Given the description of an element on the screen output the (x, y) to click on. 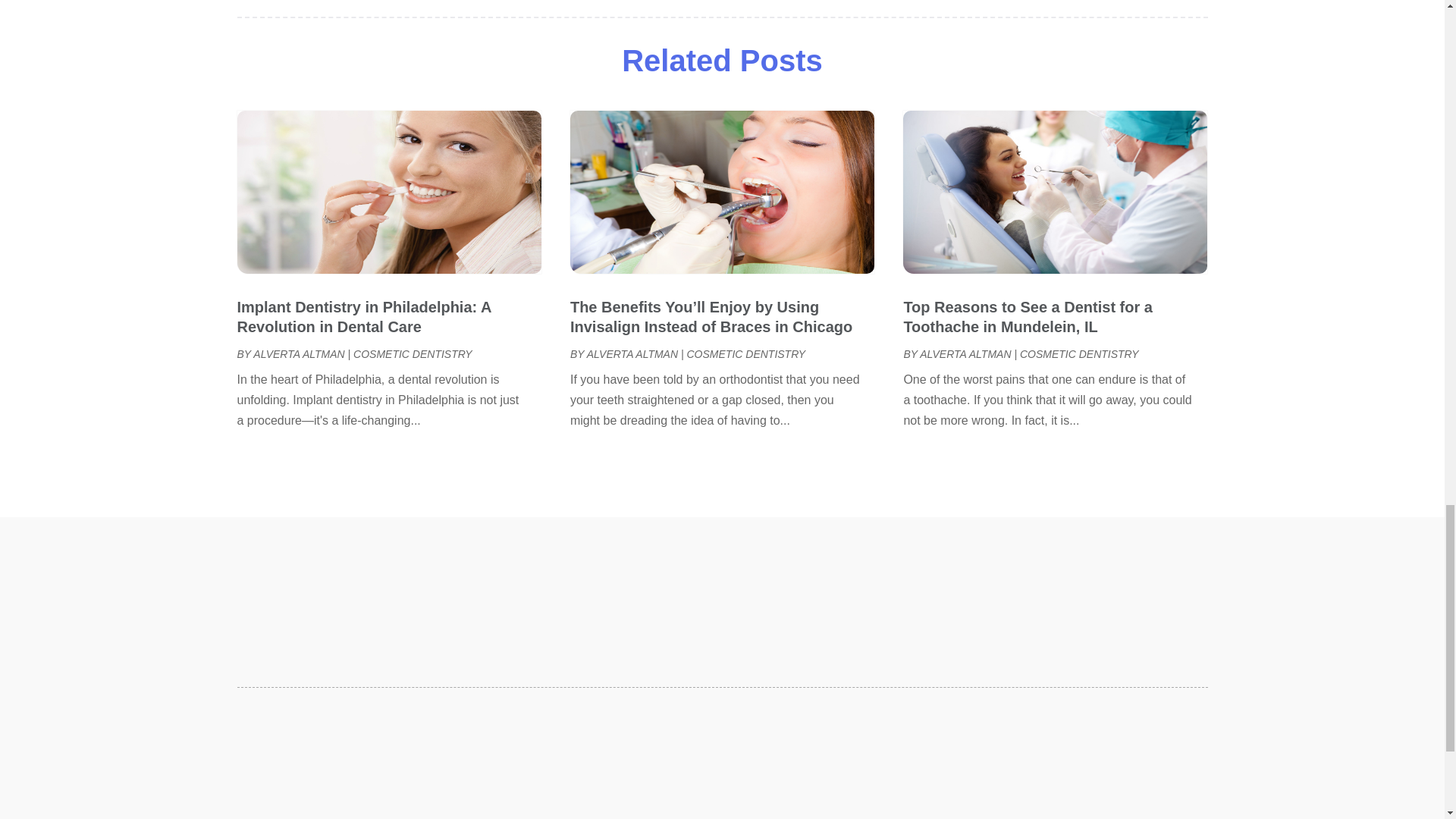
Posts by Alverta Altman (298, 354)
Posts by Alverta Altman (965, 354)
Posts by Alverta Altman (632, 354)
